Given the description of an element on the screen output the (x, y) to click on. 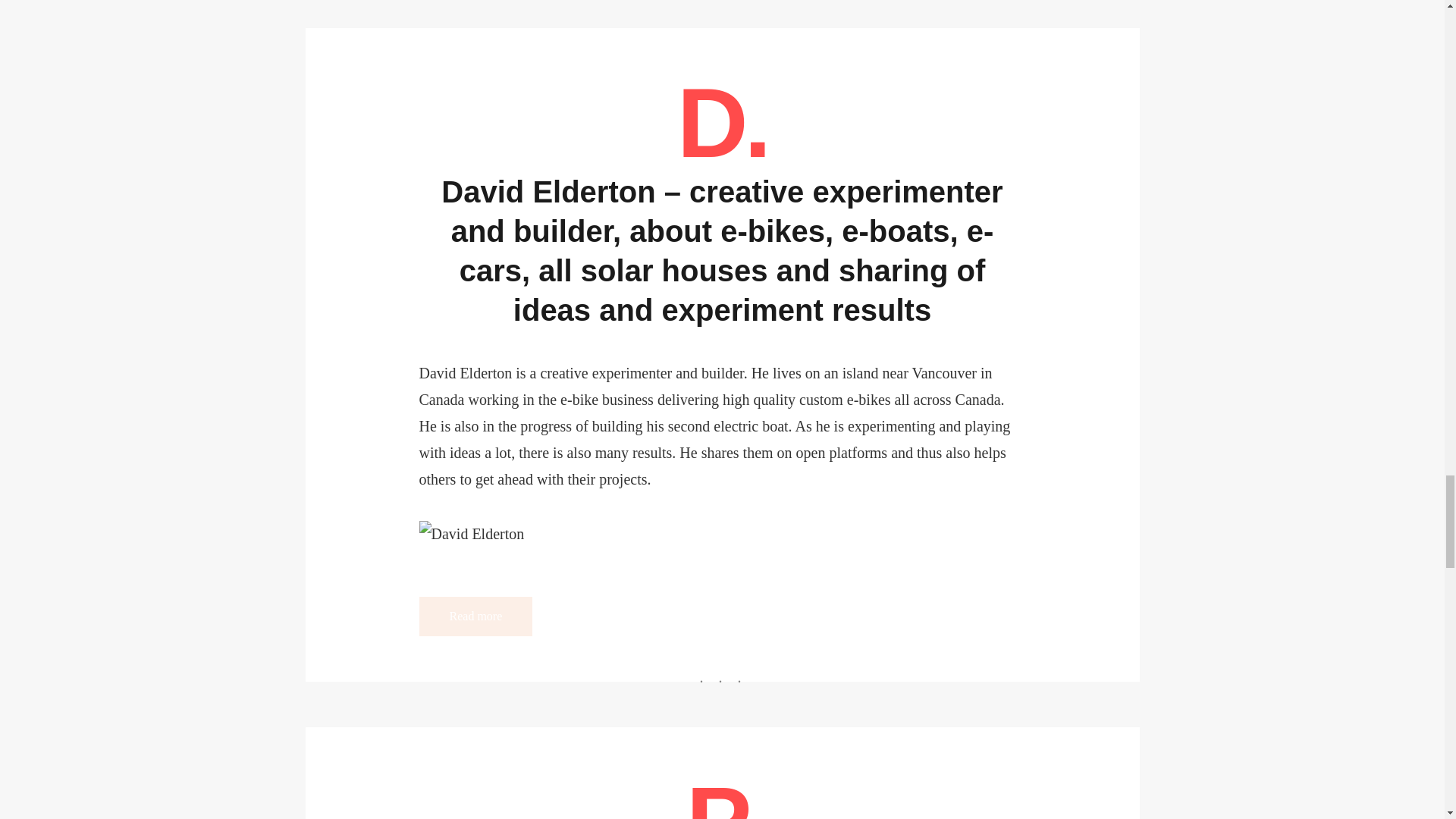
Read more (475, 616)
